Given the description of an element on the screen output the (x, y) to click on. 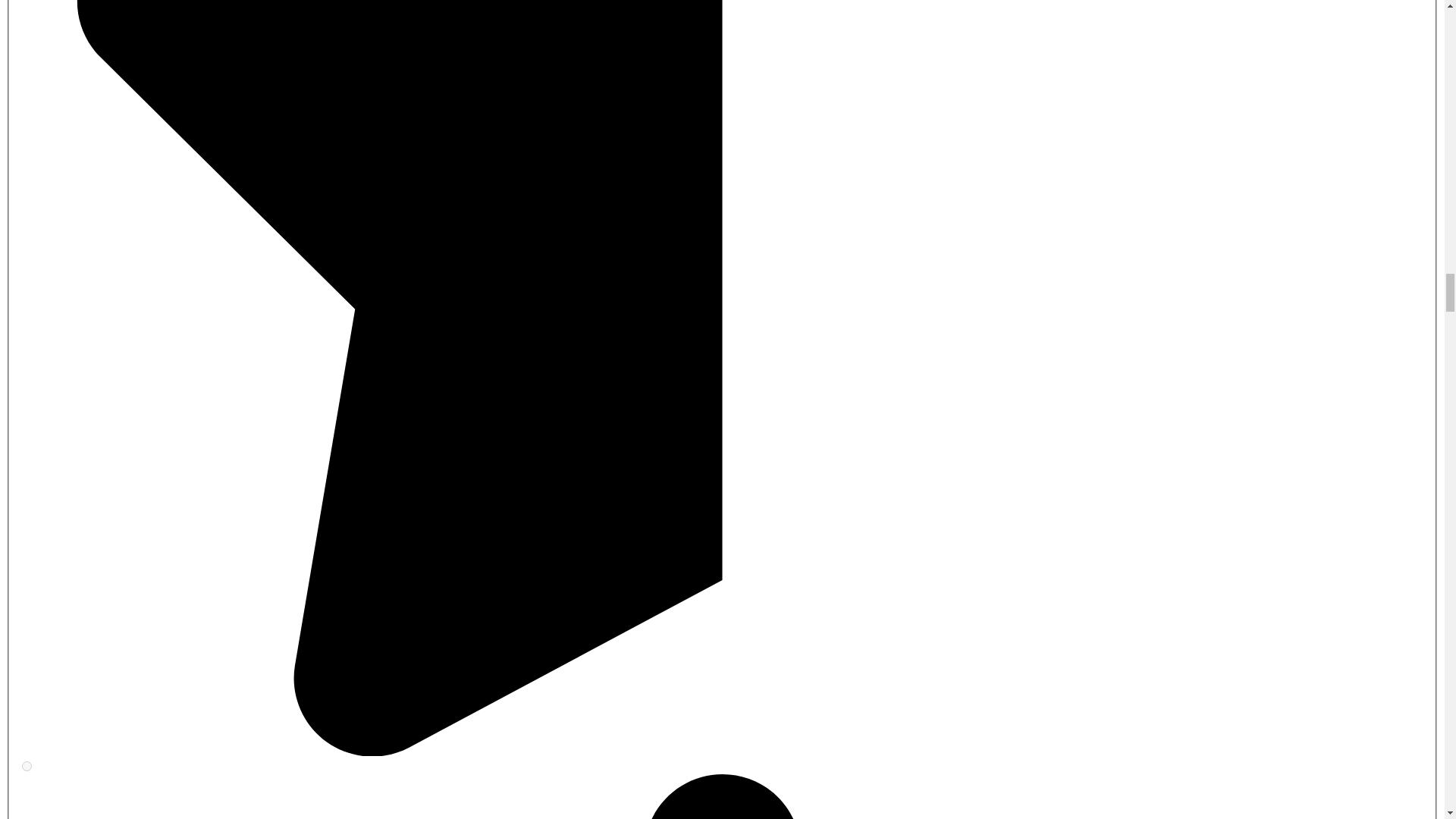
3 (26, 766)
